Given the description of an element on the screen output the (x, y) to click on. 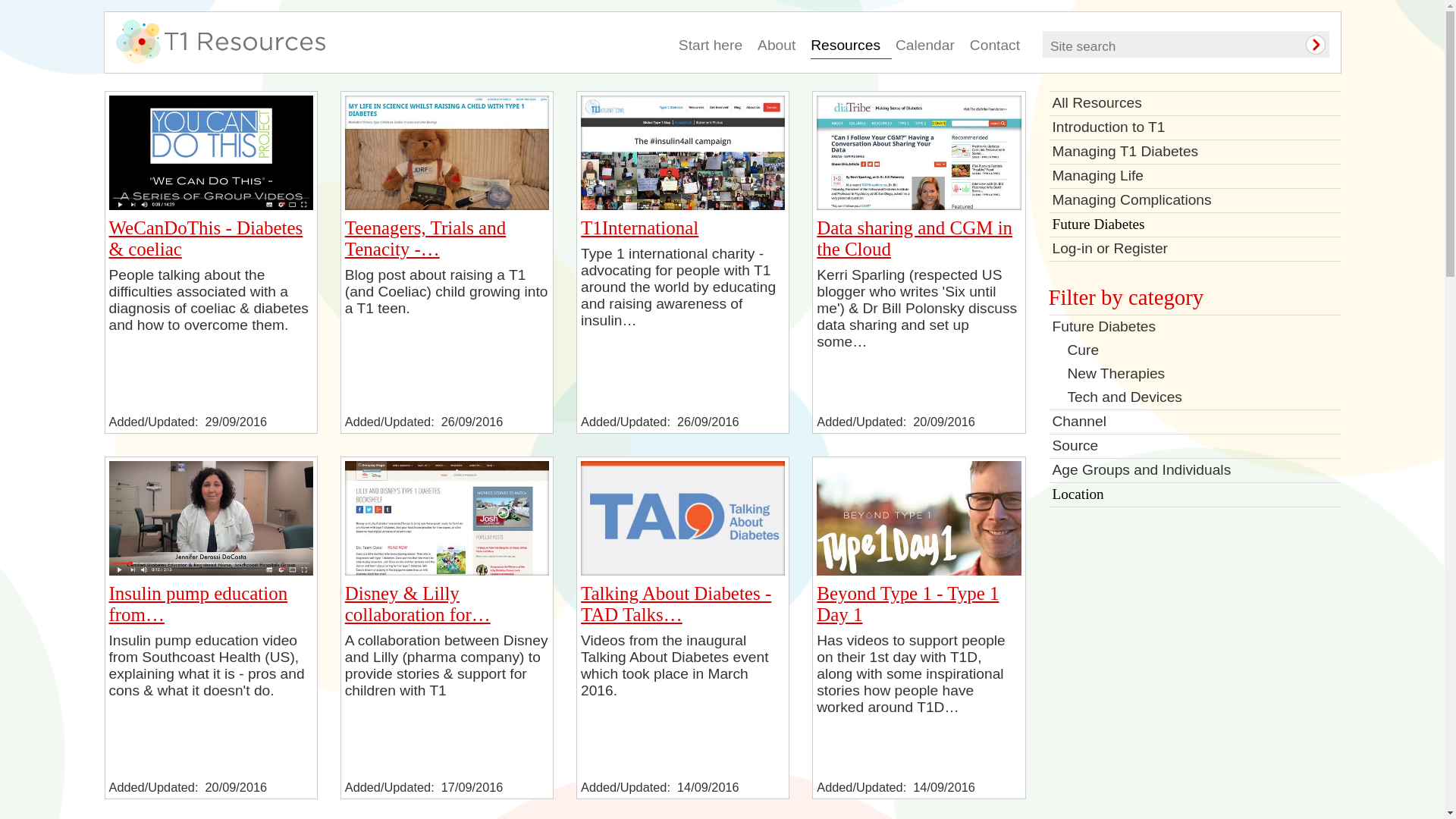
Teenagers, Trials and Tenacity - blog by dianec12 (425, 238)
Calendar (930, 47)
Site search (1146, 42)
Data sharing and CGM in the Cloud (913, 238)
T1International (682, 152)
Resources (850, 47)
Beyond Type 1 - Type 1 Day 1 (907, 603)
Teenagers, Trials and Tenacity - blog by dianec12 (446, 204)
Search (1304, 44)
T1International (639, 227)
T1International (639, 227)
Data sharing and CGM in the Cloud (918, 152)
Search (1304, 44)
Contact (999, 47)
Data sharing and CGM in the Cloud (913, 238)
